Given the description of an element on the screen output the (x, y) to click on. 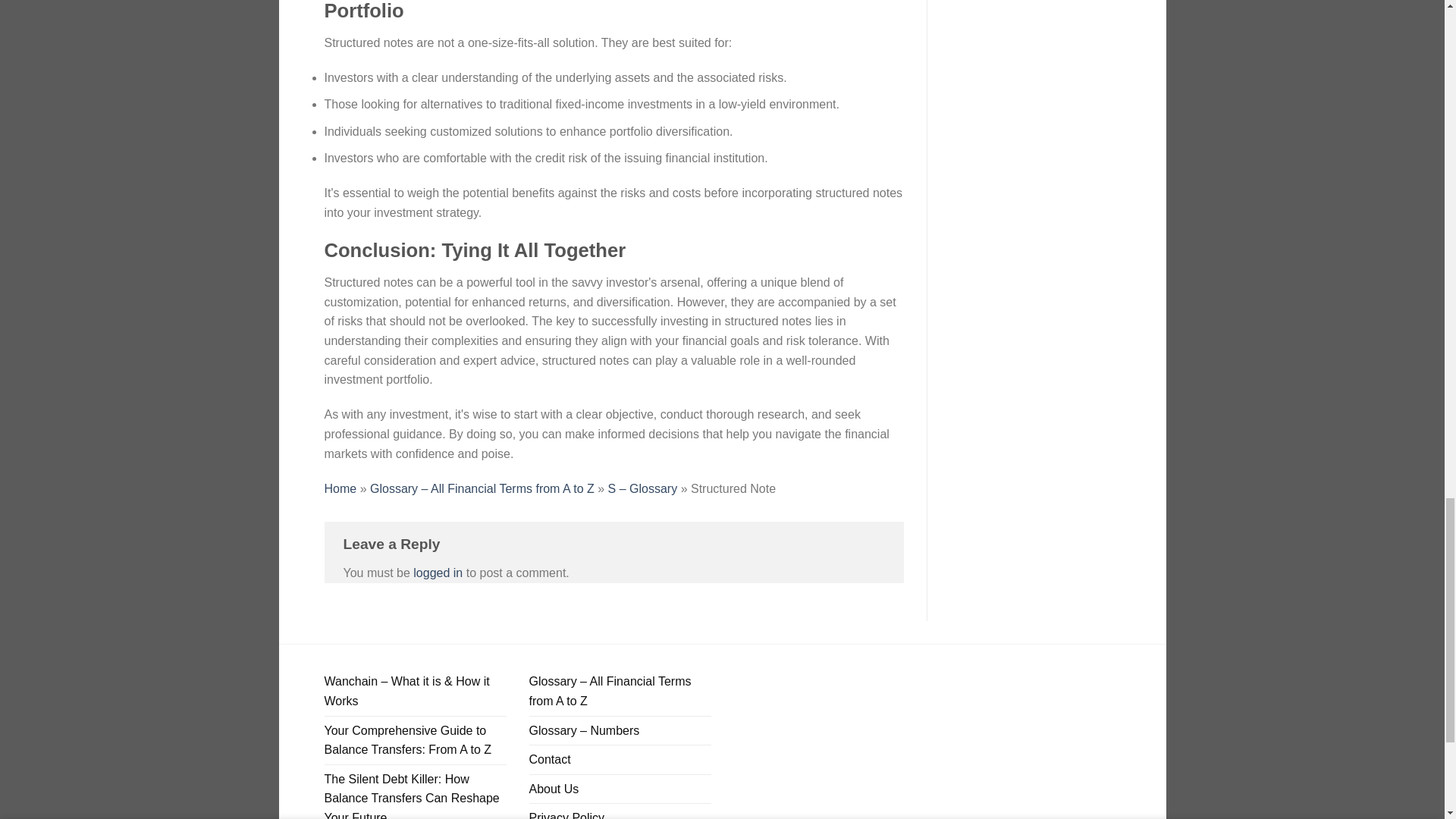
Home (340, 488)
